Given the description of an element on the screen output the (x, y) to click on. 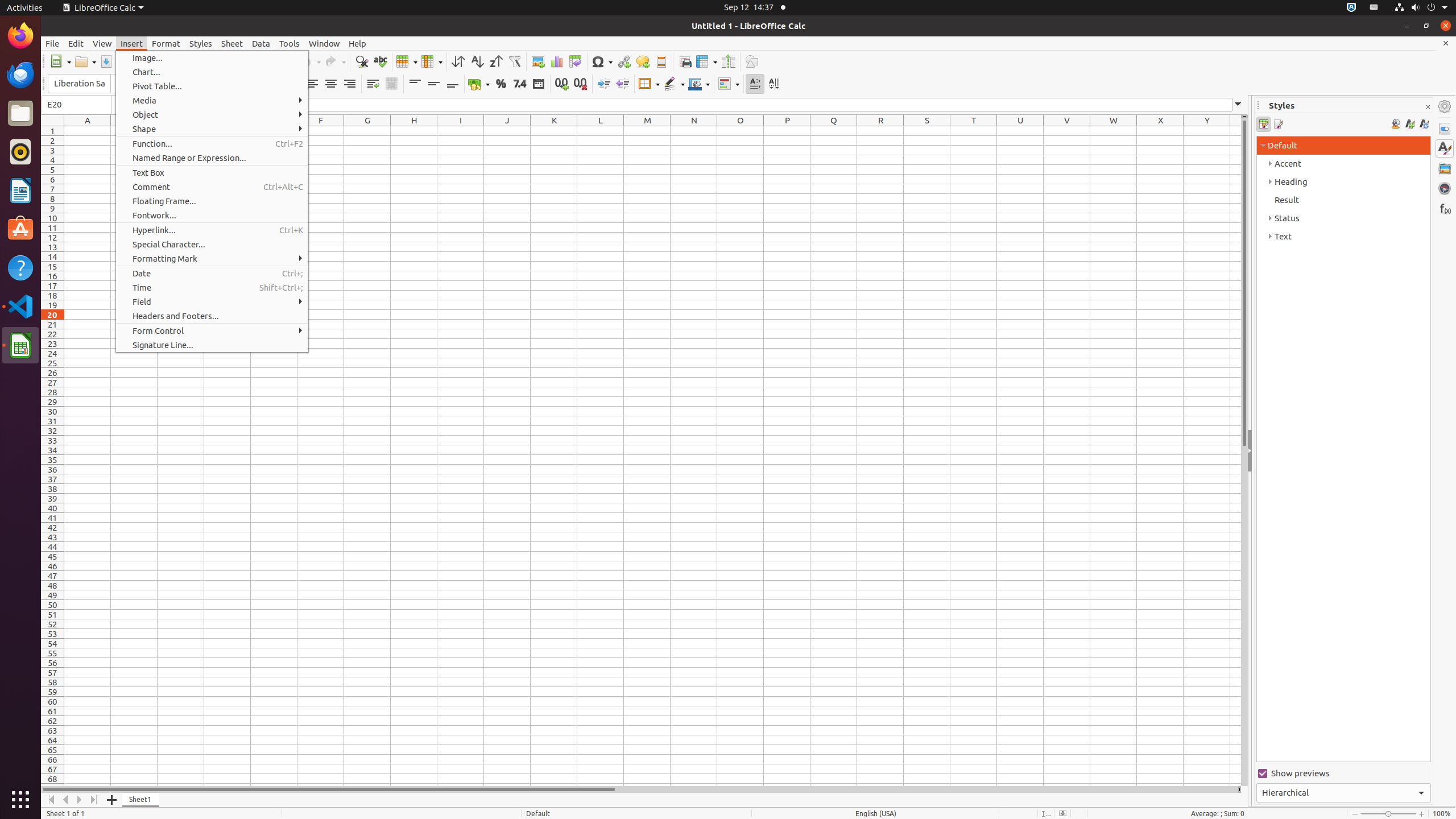
Center Vertically Element type: push-button (433, 83)
Horizontal scroll bar Element type: scroll-bar (639, 789)
Headers and Footers... Element type: menu-item (212, 315)
Headers and Footers Element type: push-button (660, 61)
Expand Formula Bar Element type: push-button (1237, 104)
